Given the description of an element on the screen output the (x, y) to click on. 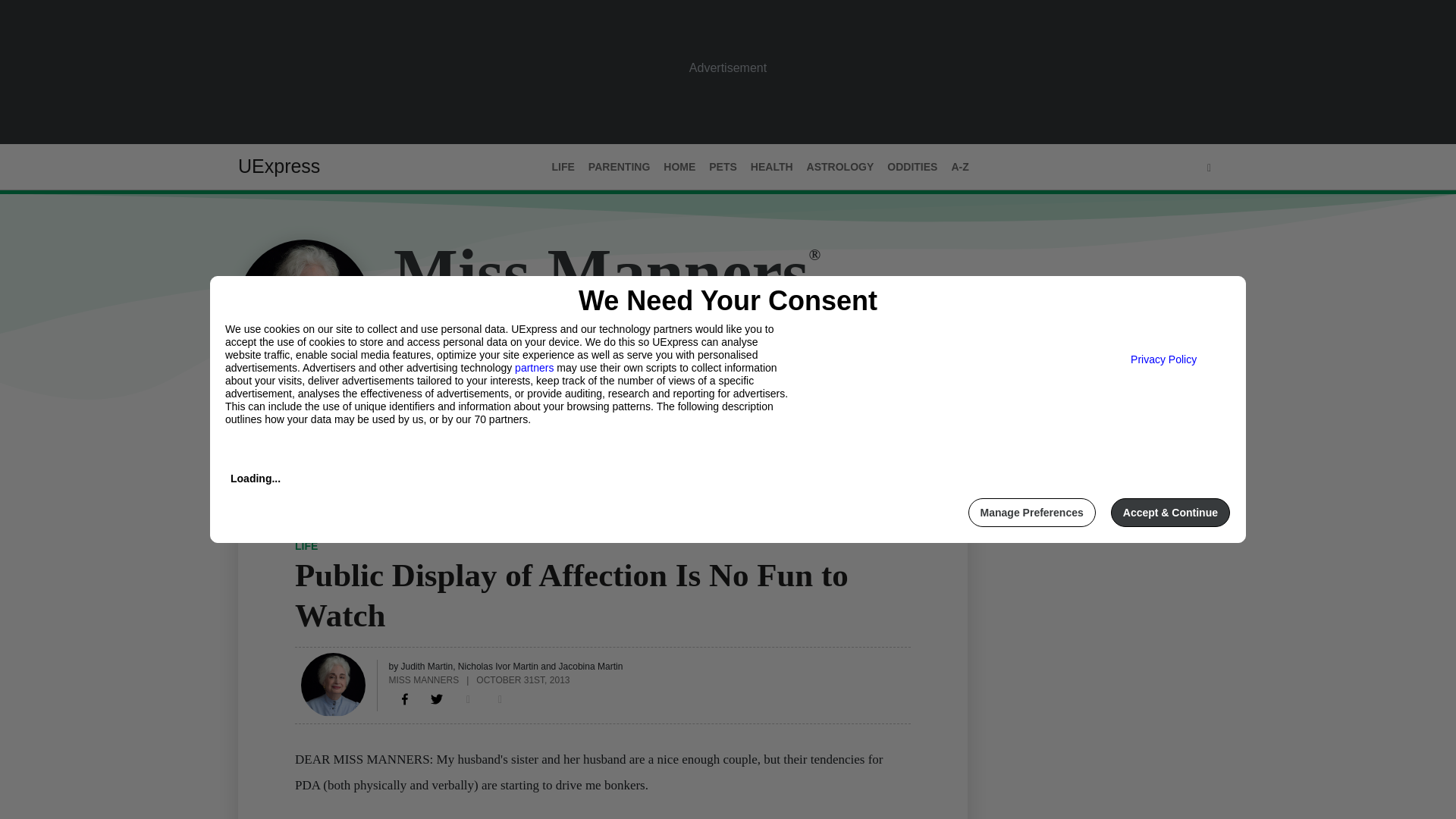
PARENTING (618, 166)
A-Z (959, 166)
Latest (256, 431)
LIFE (306, 545)
LIFE (562, 166)
HOME (678, 166)
ODDITIES (911, 166)
PETS (722, 166)
HEALTH (771, 166)
About (309, 431)
